Given the description of an element on the screen output the (x, y) to click on. 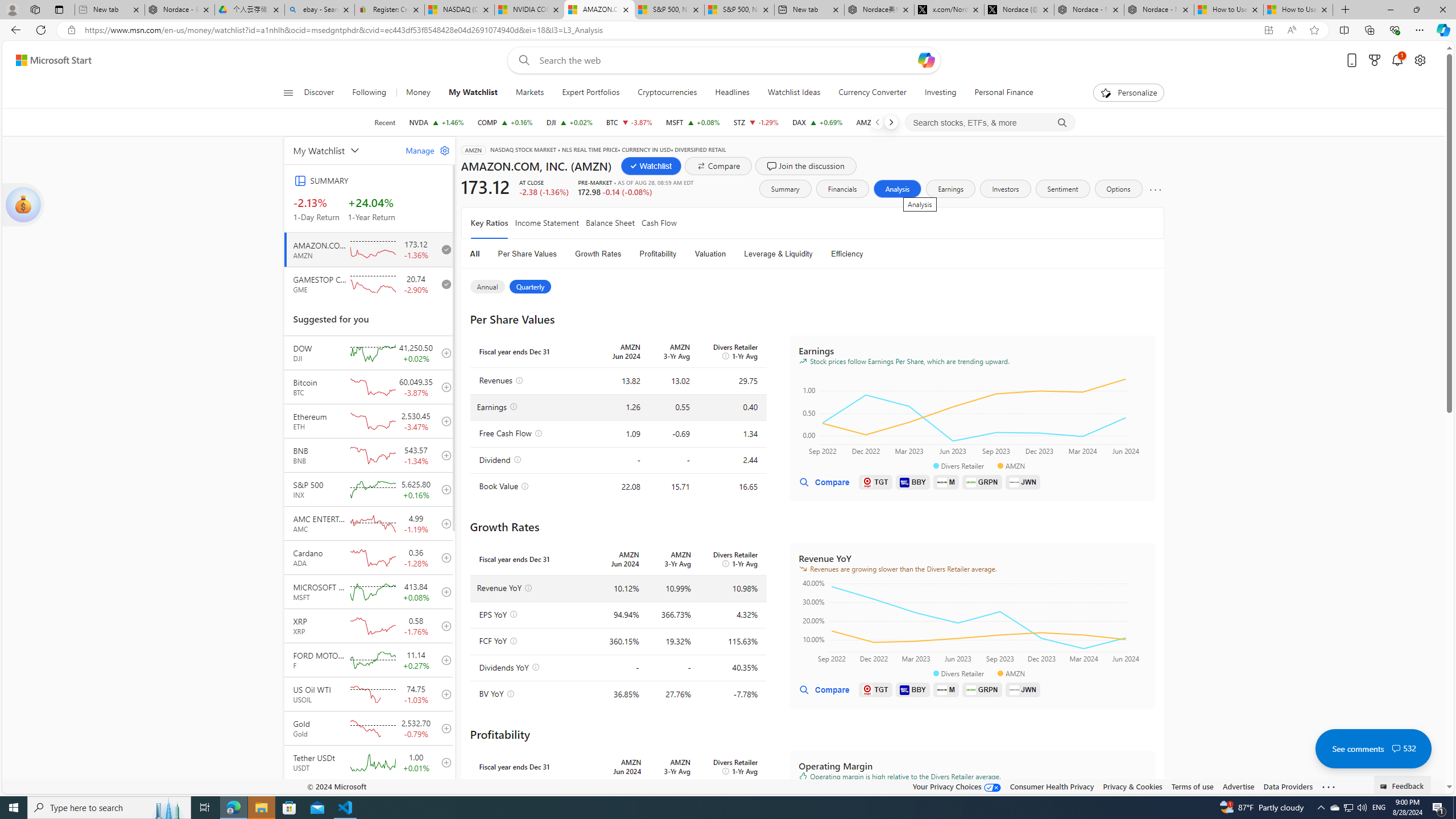
Earnings (950, 188)
Class: oneFooter_seeMore-DS-EntryPoint1-1 (1328, 786)
Efficiency (847, 253)
M (946, 689)
Currency Converter (872, 92)
BBY (912, 689)
Class: feedback_link_icon-DS-EntryPoint1-1 (1384, 786)
Currency Converter (872, 92)
See more (1328, 787)
Balance Sheet (609, 223)
Terms of use (1192, 785)
